Given the description of an element on the screen output the (x, y) to click on. 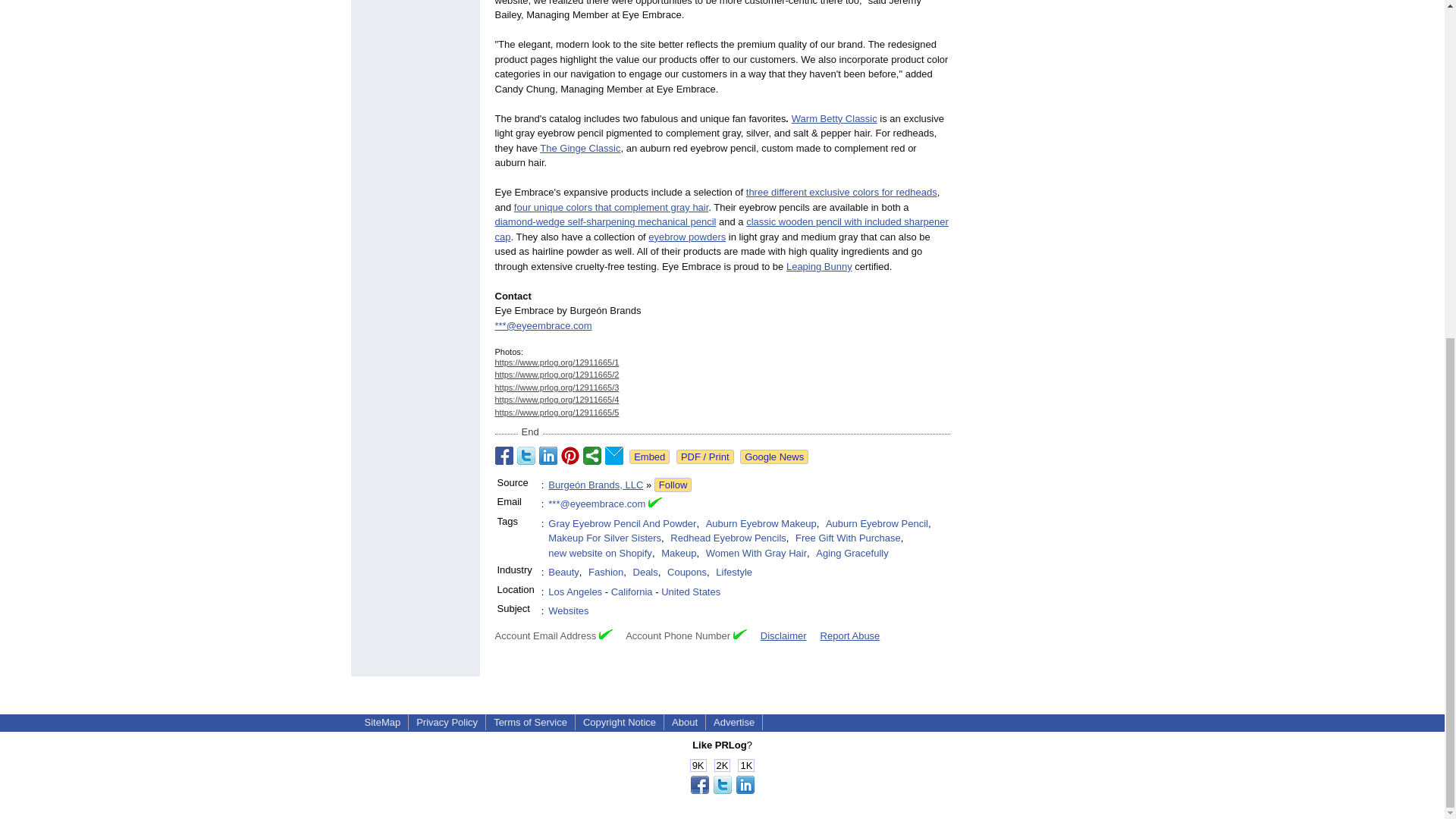
Share on StumbleUpon, Digg, etc (590, 455)
Share on LinkedIn (547, 455)
See or print the PDF version! (705, 456)
Share on Twitter (525, 455)
Email to a Friend (614, 455)
Verified (739, 634)
Email Verified (654, 503)
Embed (648, 456)
Share this page! (722, 790)
Embed this press release in your website! (648, 456)
